Given the description of an element on the screen output the (x, y) to click on. 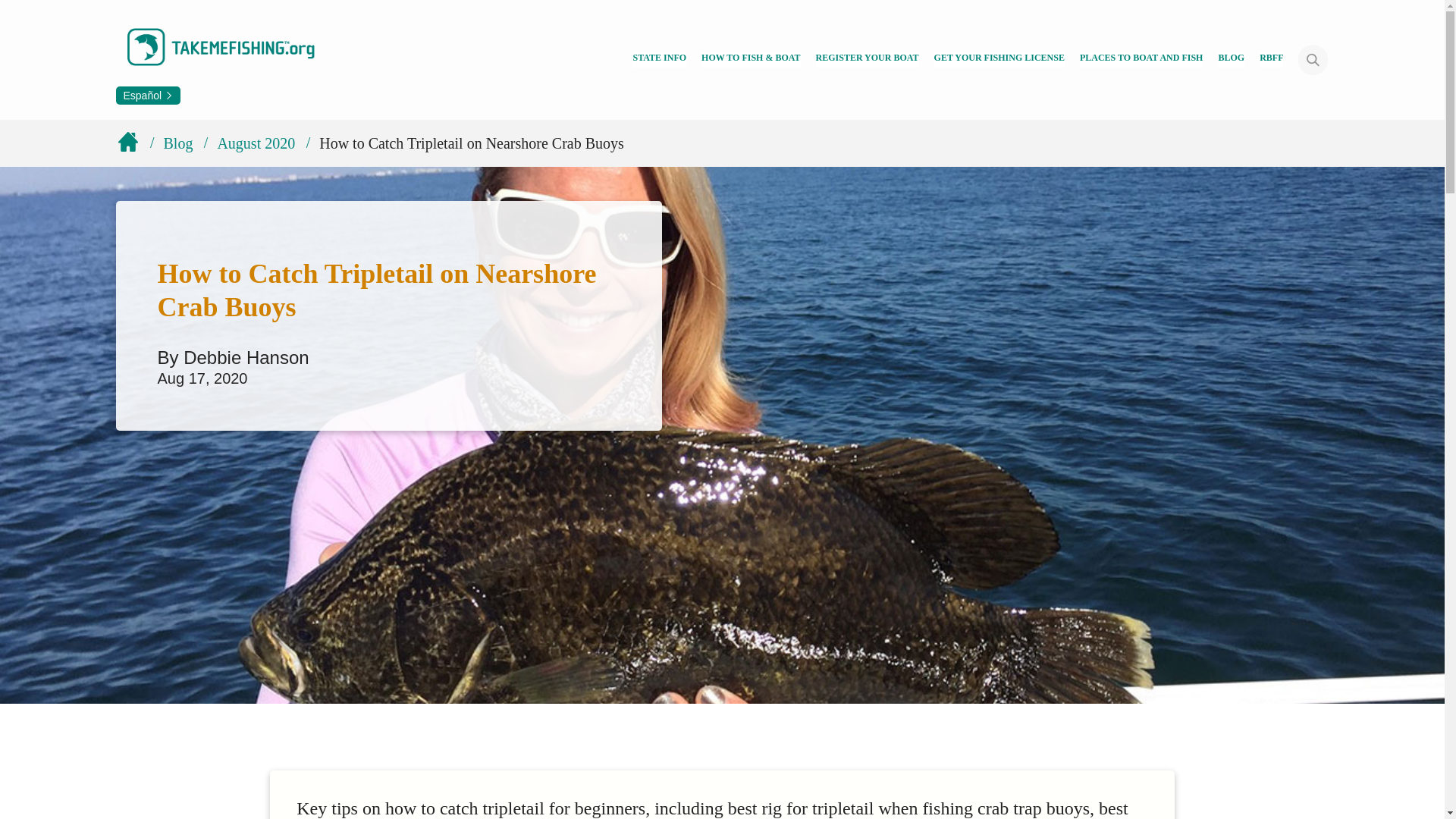
RBFF (1270, 59)
Blog (1230, 59)
PLACES TO BOAT AND FISH (1142, 59)
REGISTER YOUR BOAT (866, 59)
RBFF (1270, 59)
Register Your Boat (866, 59)
BLOG (1230, 59)
GET YOUR FISHING LICENSE (999, 59)
Get Your Fishing License (999, 59)
Places To Boat And Fish (1142, 59)
